Given the description of an element on the screen output the (x, y) to click on. 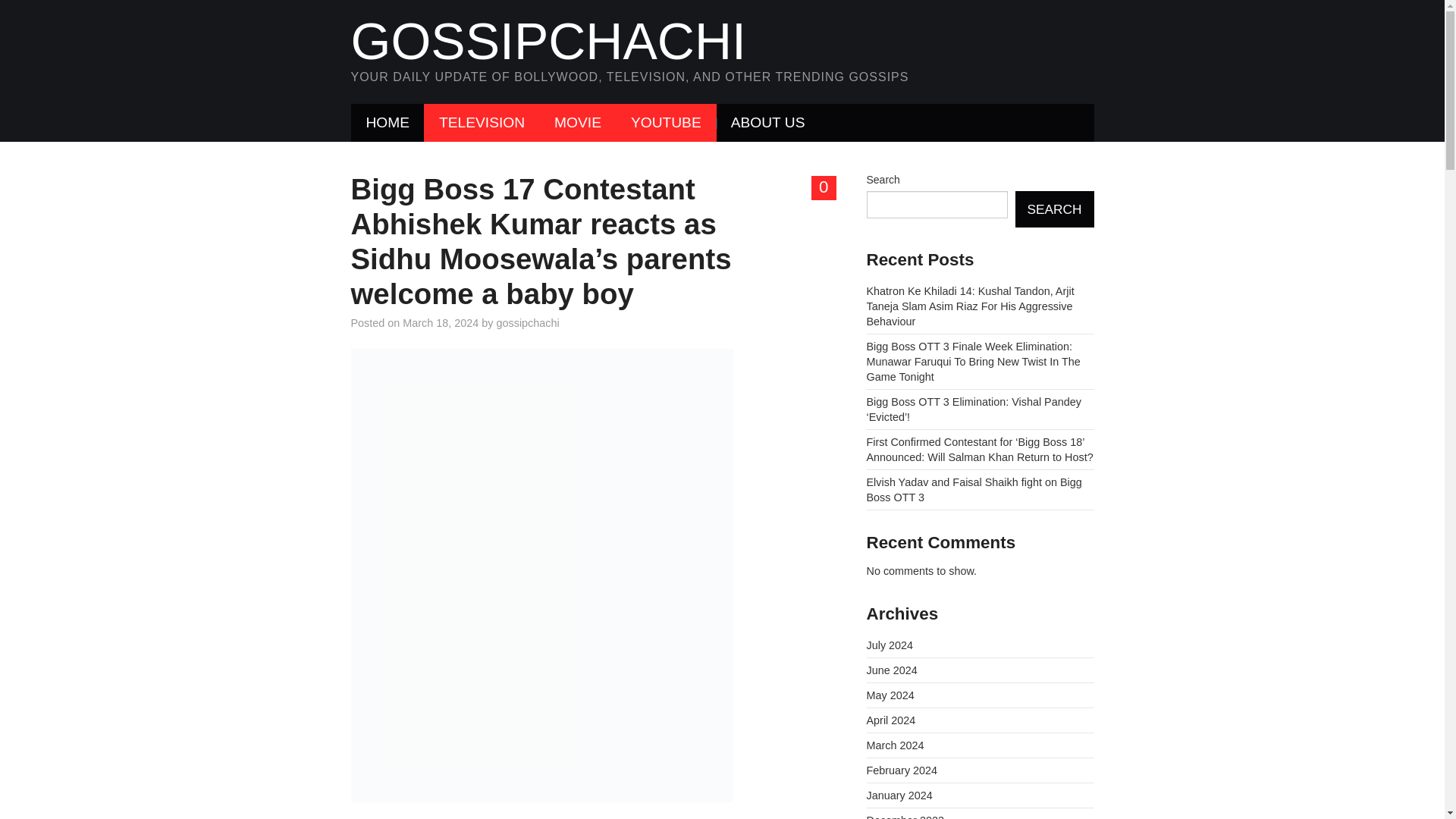
MOVIE (576, 122)
0 (822, 187)
TELEVISION (481, 122)
July 2024 (889, 645)
ABOUT US (768, 122)
gossipchachi (527, 322)
7:00 am (441, 322)
March 18, 2024 (441, 322)
YOUTUBE (665, 122)
GOSSIPCHACHI (547, 40)
HOME (387, 122)
SEARCH (1054, 208)
Elvish Yadav and Faisal Shaikh fight on Bigg Boss OTT 3  (973, 489)
